Given the description of an element on the screen output the (x, y) to click on. 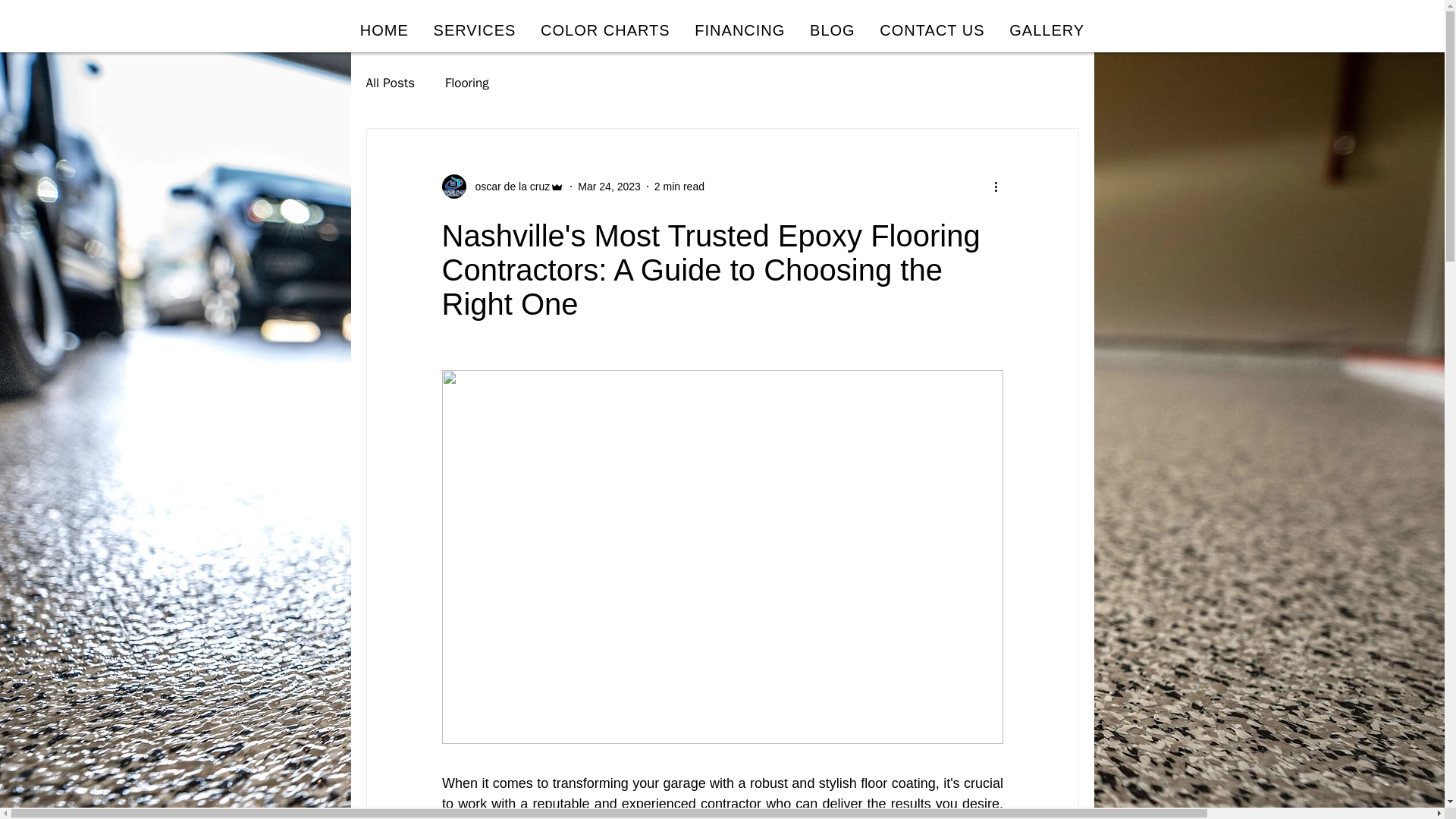
FINANCING (739, 30)
CONTACT US (932, 30)
GALLERY (1047, 30)
COLOR CHARTS (605, 30)
BLOG (832, 30)
All Posts (389, 82)
HOME (383, 30)
Mar 24, 2023 (609, 186)
oscar de la cruz (502, 186)
Flooring (467, 82)
2 min read (678, 186)
SERVICES (474, 30)
oscar de la cruz (507, 186)
